Given the description of an element on the screen output the (x, y) to click on. 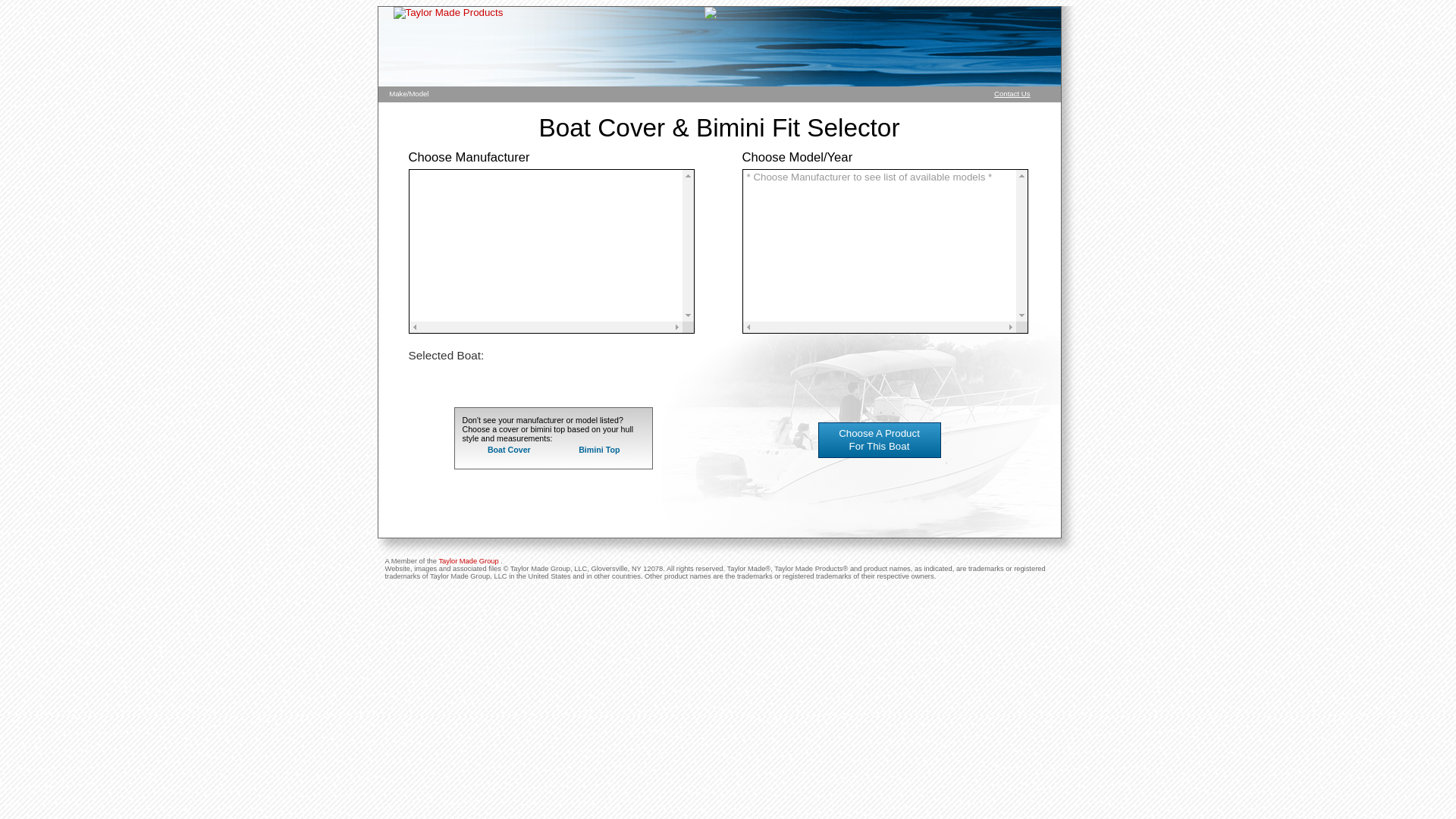
Boat Cover Element type: text (508, 449)
Taylor Made Group Element type: text (469, 560)
Choose A Product
For This Boat Element type: text (898, 440)
Bimini Top Element type: text (598, 449)
Contact Us Element type: text (1011, 93)
